Given the description of an element on the screen output the (x, y) to click on. 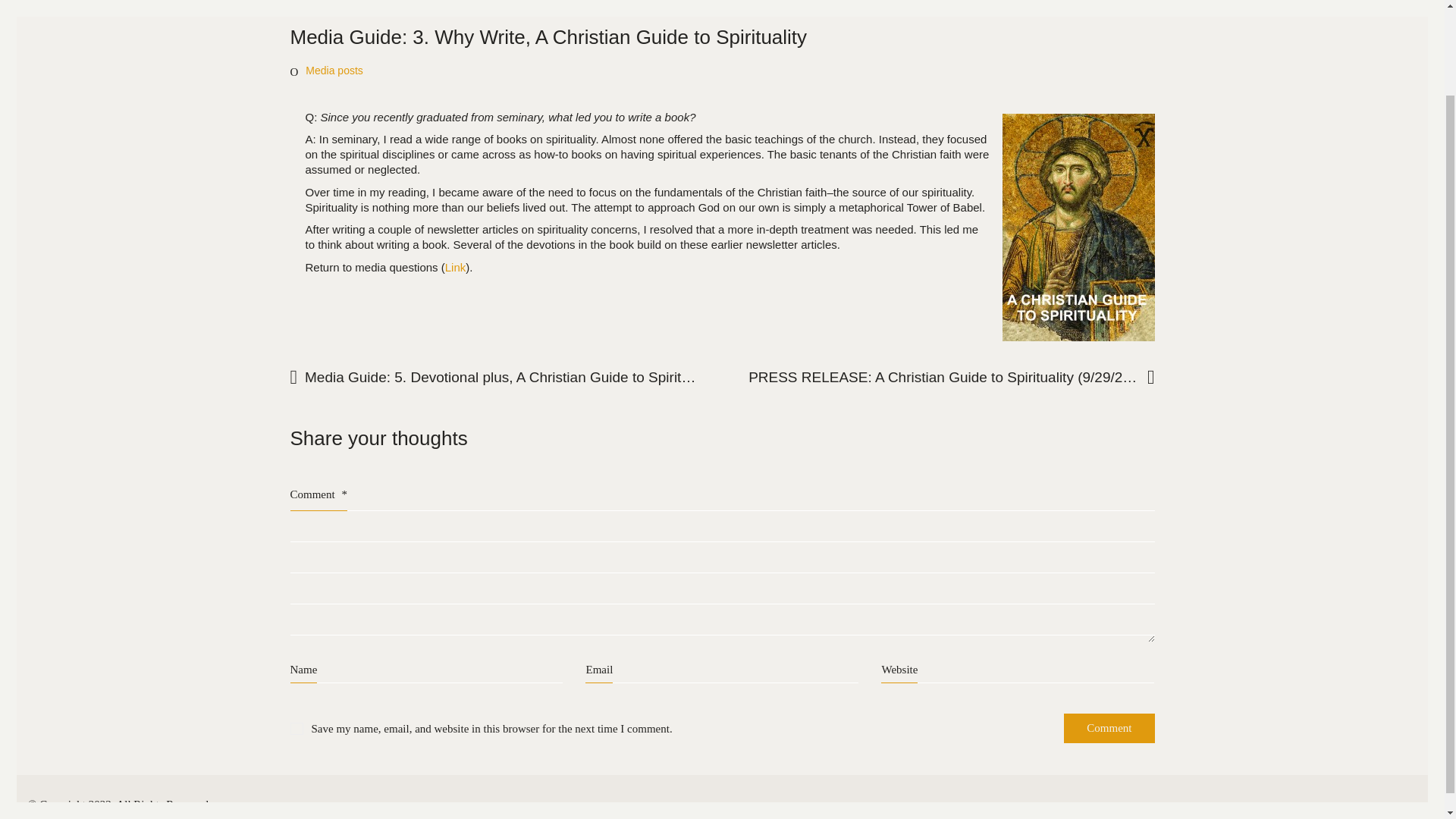
yes (295, 728)
Media posts (333, 70)
Comment (1109, 727)
Comment (1109, 727)
Media Guide: A Christian Guide to Spirituality (455, 267)
Link (455, 267)
